Given the description of an element on the screen output the (x, y) to click on. 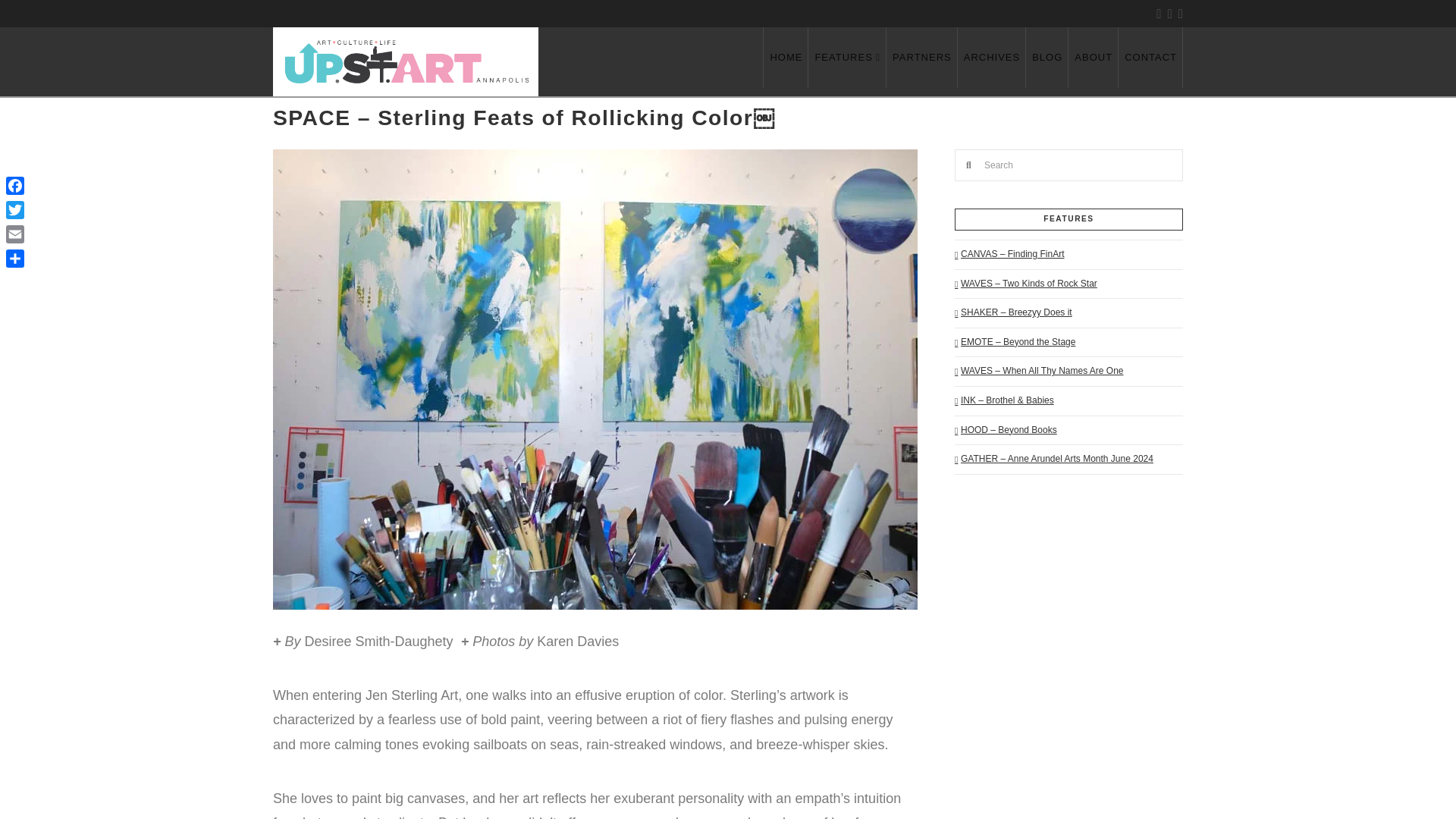
CONTACT (1150, 57)
Advertisement (1049, 596)
FEATURES (847, 57)
Email (14, 233)
Facebook (14, 185)
ARCHIVES (992, 57)
Advertisement (1068, 771)
Twitter (14, 209)
PARTNERS (922, 57)
